Given the description of an element on the screen output the (x, y) to click on. 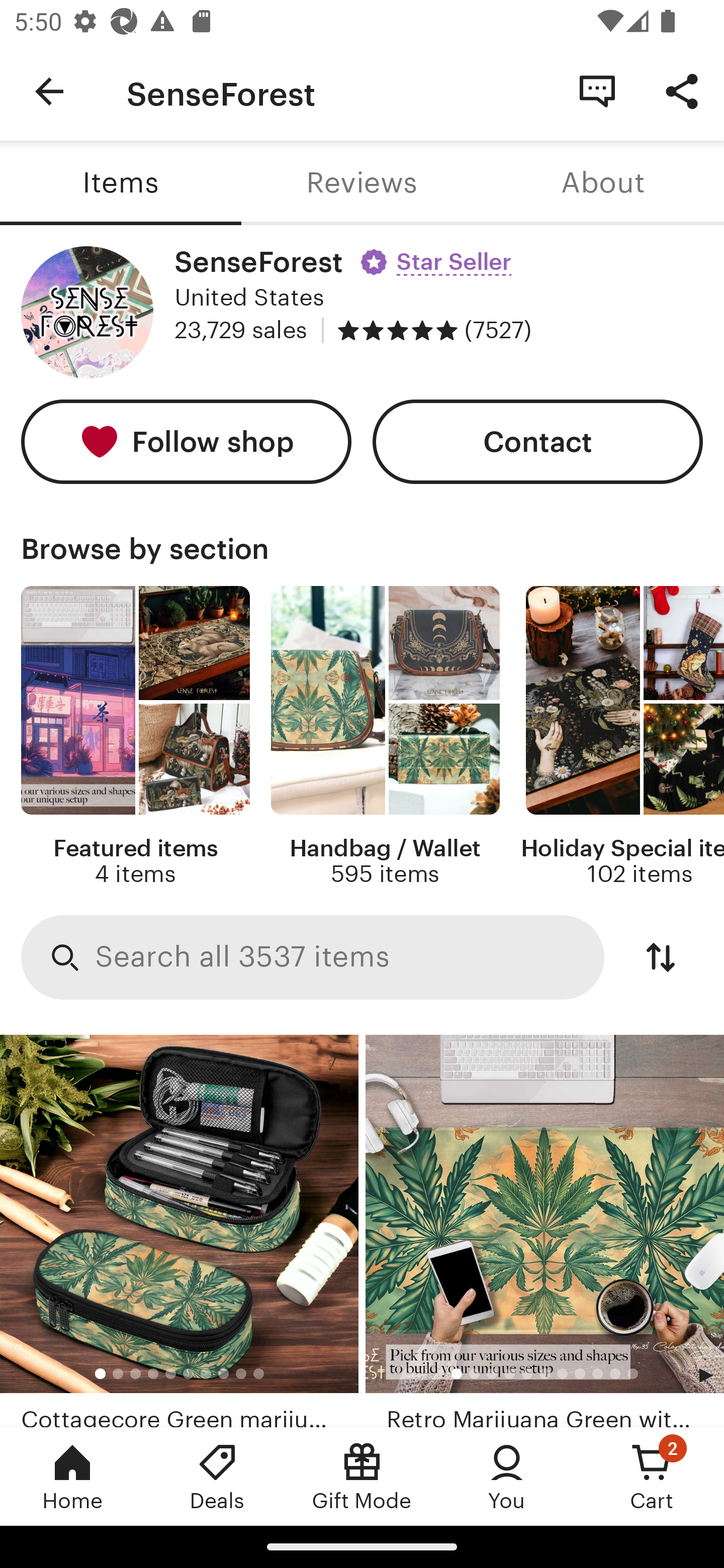
Navigate up (49, 91)
Contact Shop (597, 90)
Share (681, 90)
Reviews (361, 183)
About (603, 183)
Star Seller (438, 255)
Follow shop (185, 441)
Contact (537, 441)
Featured items 4 items (134, 736)
Handbag / Wallet 595 items (384, 736)
Holiday Special items 102 items (622, 736)
Search Search all 3537 items (312, 957)
Deals (216, 1475)
Gift Mode (361, 1475)
You (506, 1475)
Cart, 2 new notifications Cart (651, 1475)
